Given the description of an element on the screen output the (x, y) to click on. 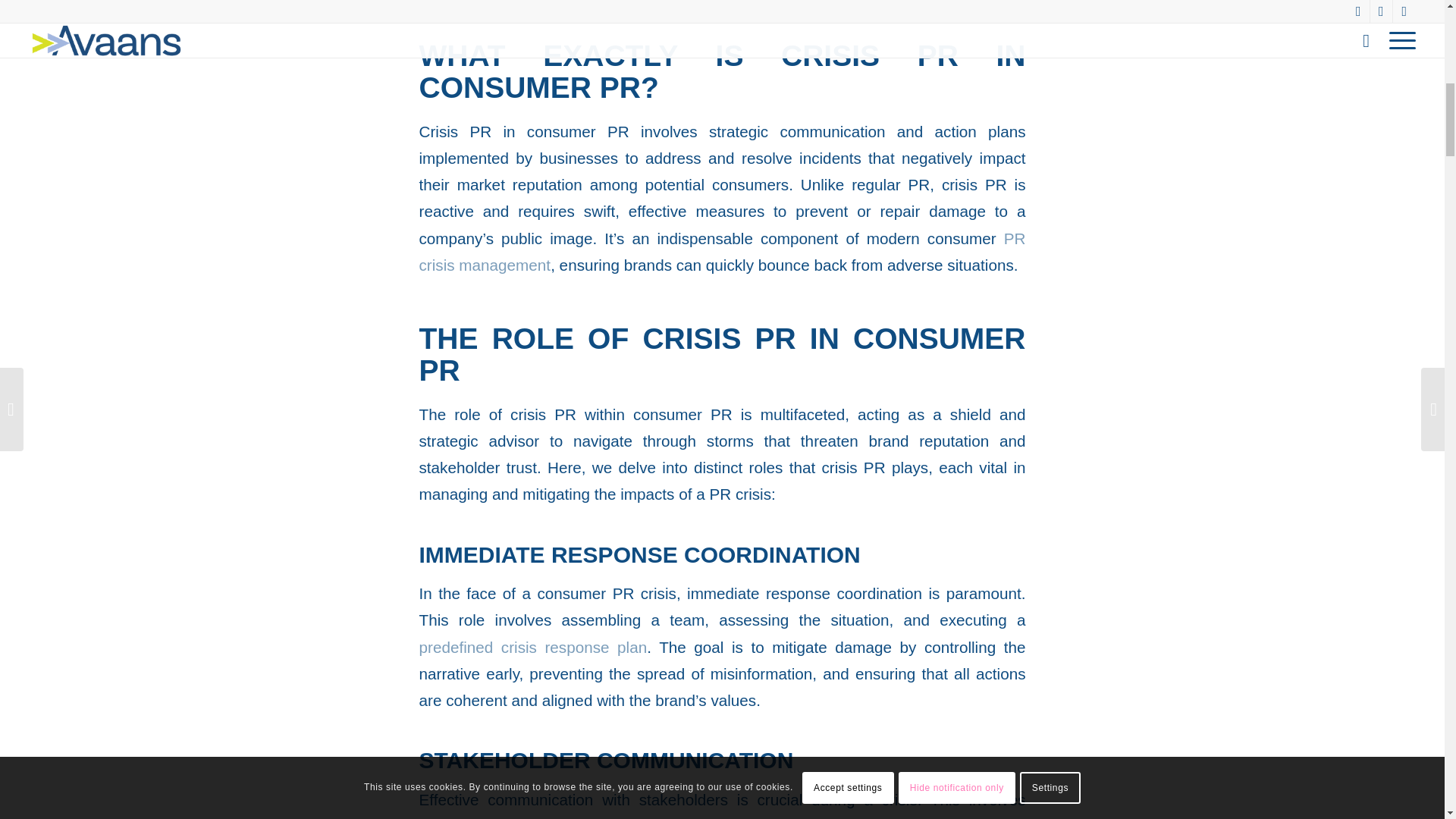
predefined crisis response plan (532, 647)
PR crisis management (722, 251)
